Given the description of an element on the screen output the (x, y) to click on. 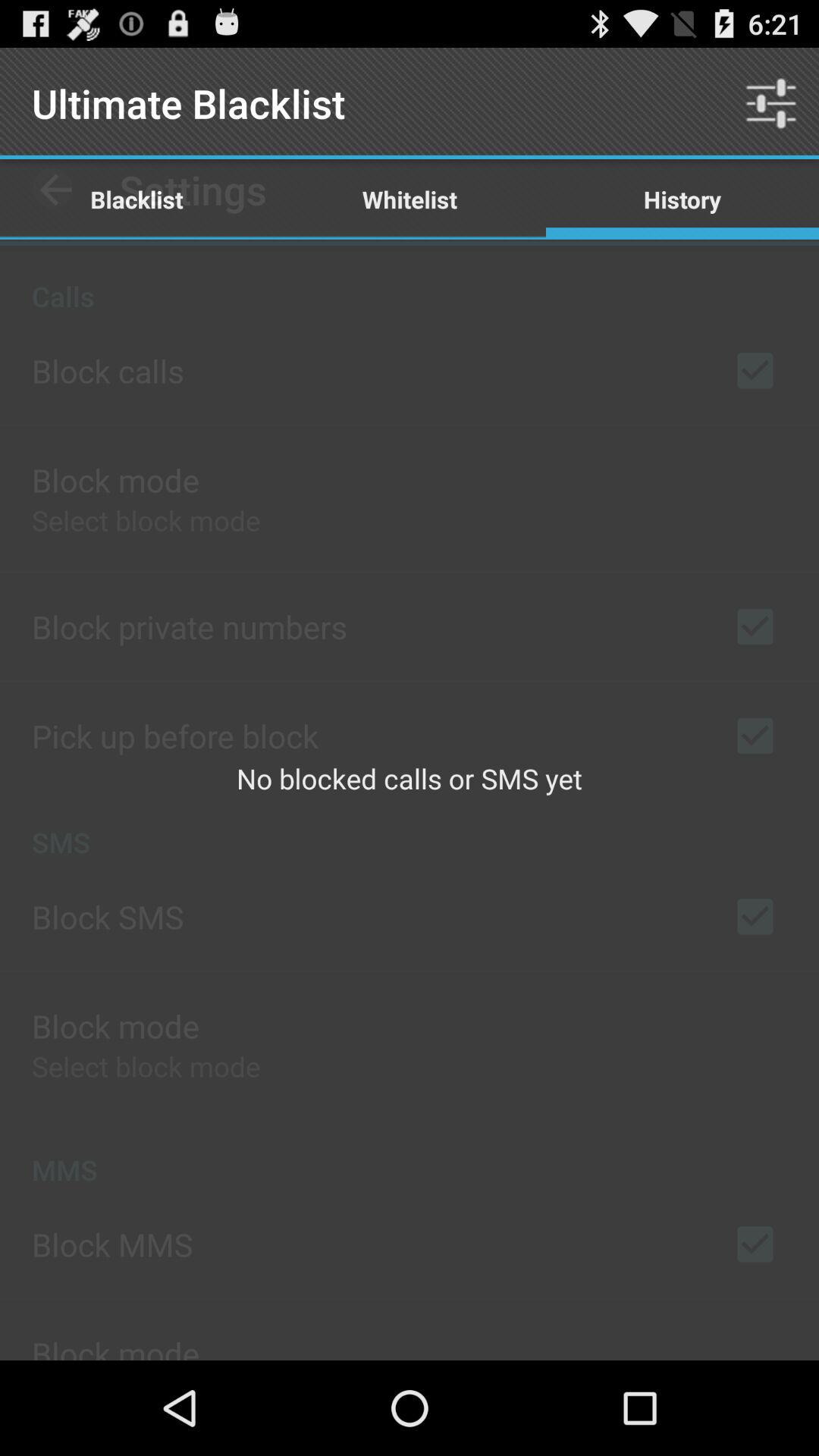
launch the item next to the history icon (409, 199)
